Given the description of an element on the screen output the (x, y) to click on. 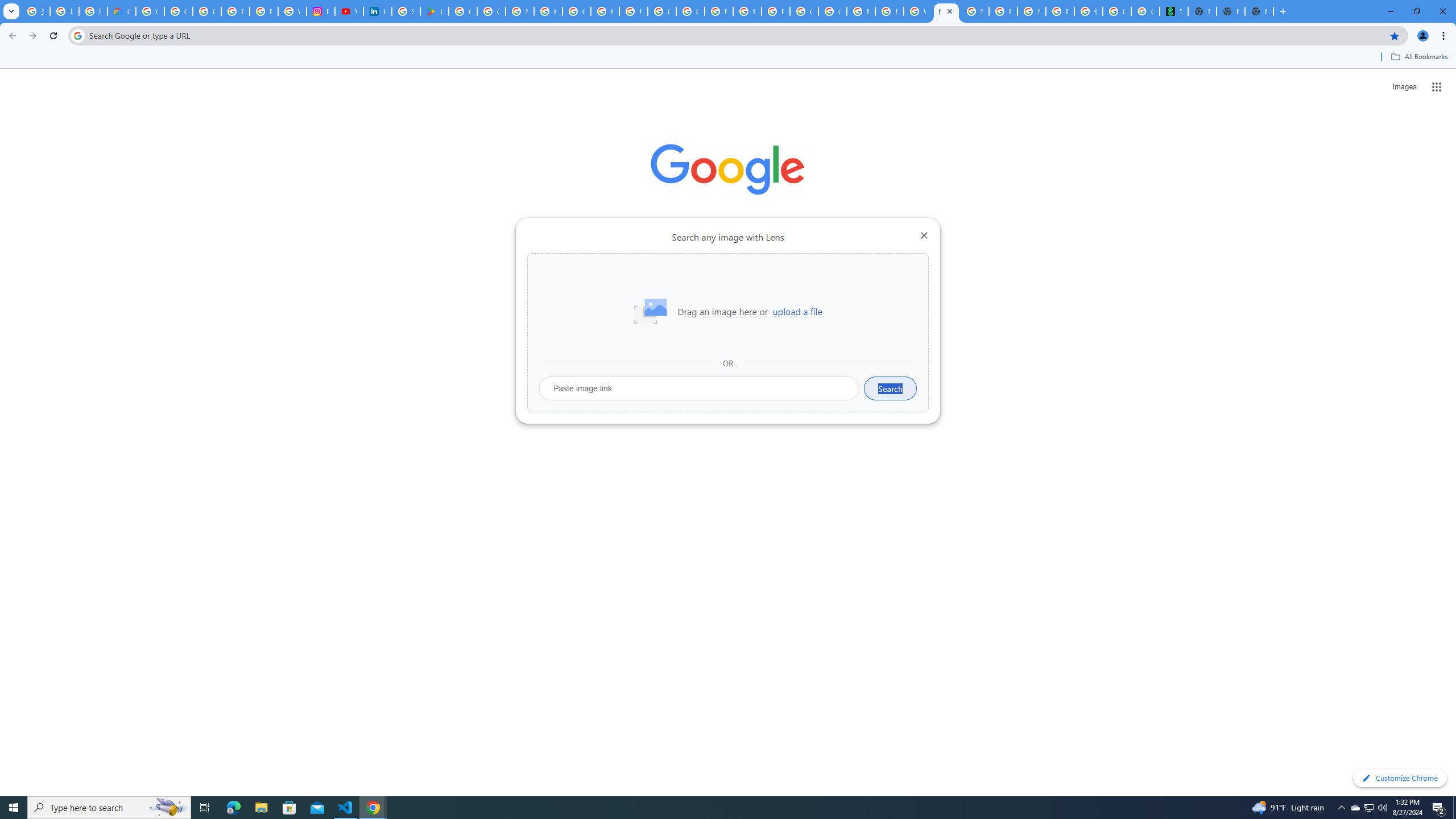
Google Workspace - Specific Terms (491, 11)
Add shortcut (727, 287)
Privacy Help Center - Policies Help (234, 11)
Google Cloud Platform (832, 11)
